Given the description of an element on the screen output the (x, y) to click on. 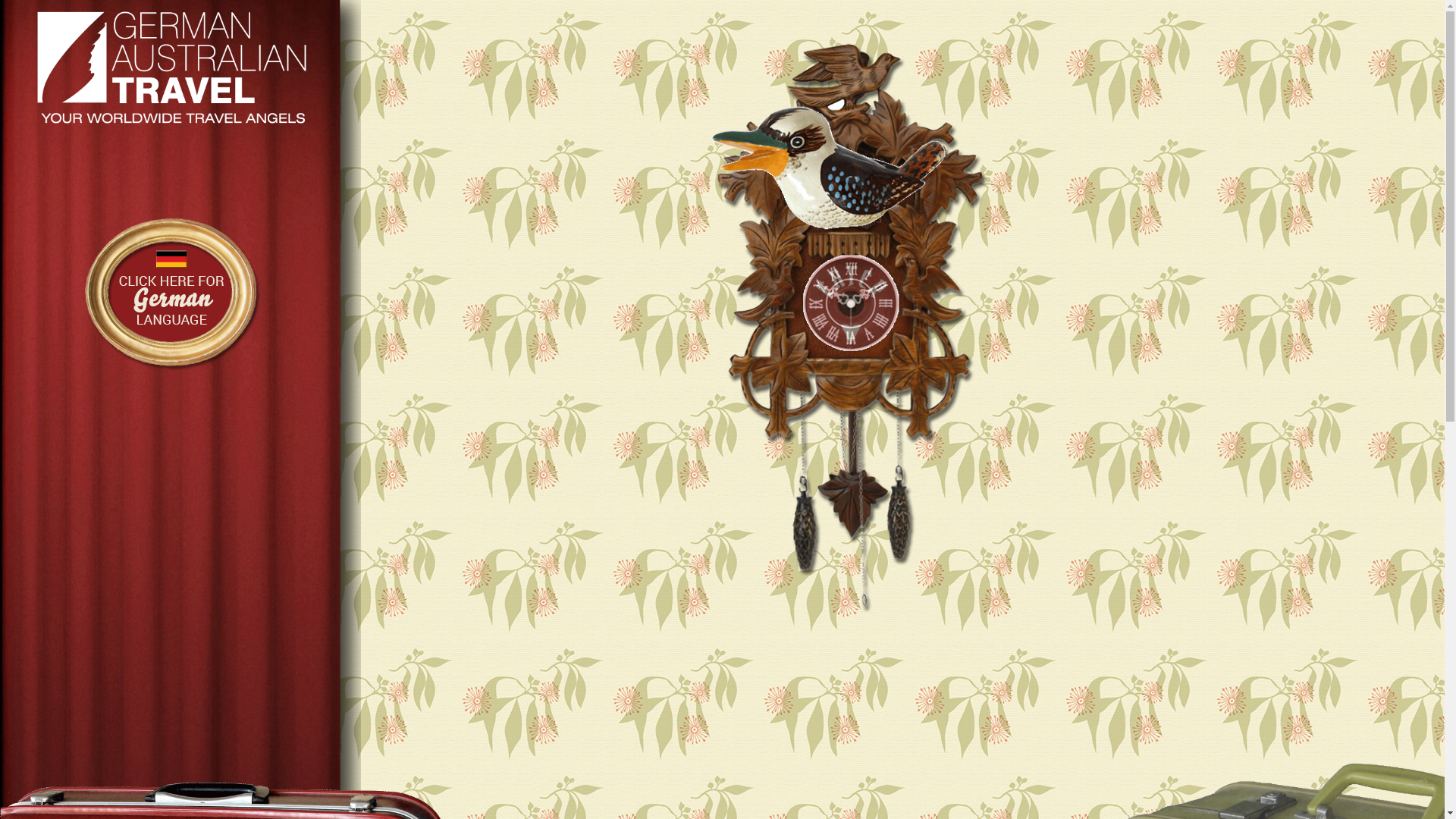
German website Element type: hover (170, 370)
